Given the description of an element on the screen output the (x, y) to click on. 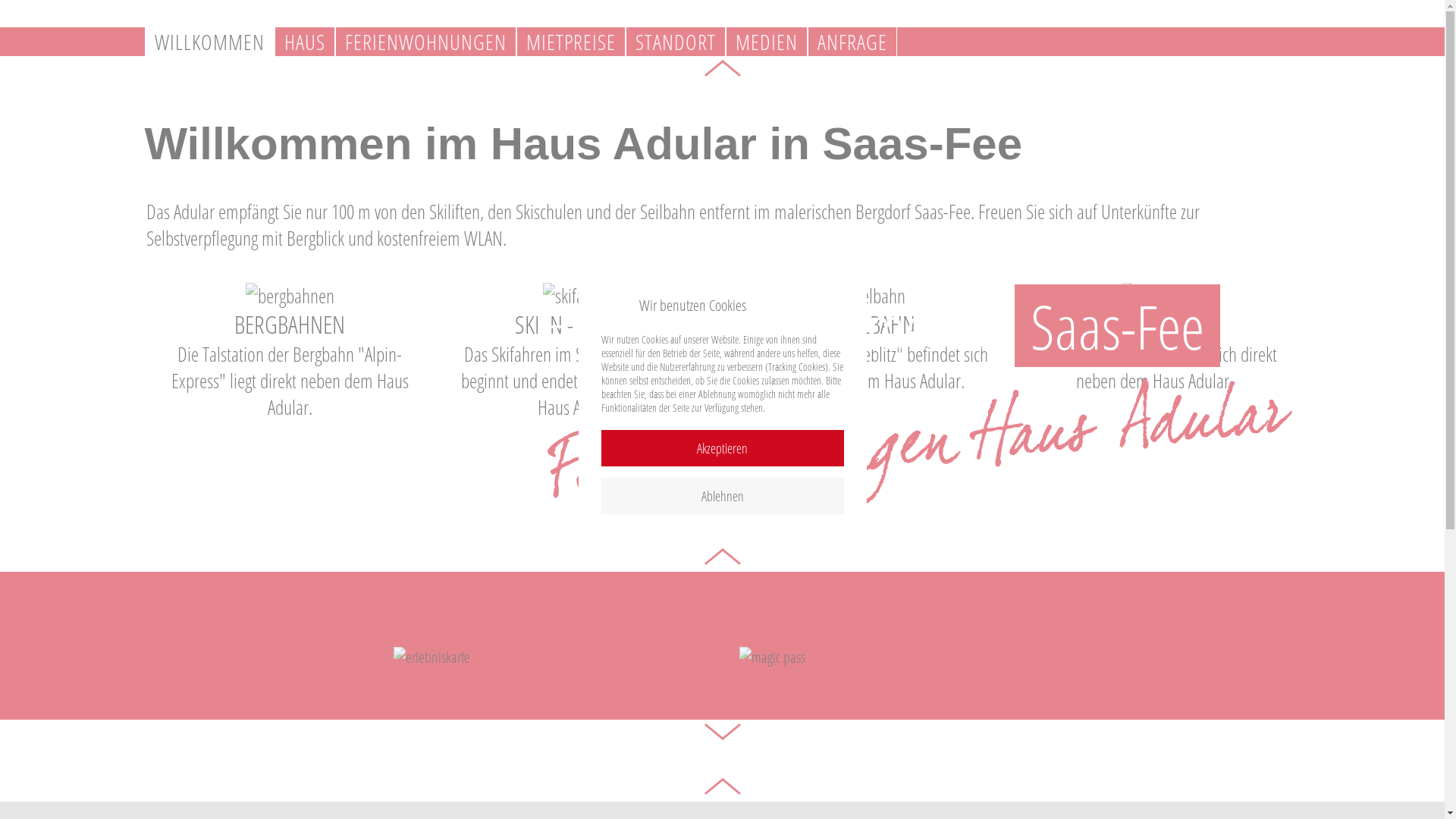
Ablehnen Element type: text (721, 495)
STANDORT Element type: text (674, 41)
FERIENWOHNUNGEN Element type: text (425, 41)
WILLKOMMEN Element type: text (208, 41)
MEDIEN Element type: text (765, 41)
ANFRAGE Element type: text (851, 41)
MIETPREISE Element type: text (569, 41)
Akzeptieren Element type: text (721, 447)
HAUS Element type: text (304, 41)
